Given the description of an element on the screen output the (x, y) to click on. 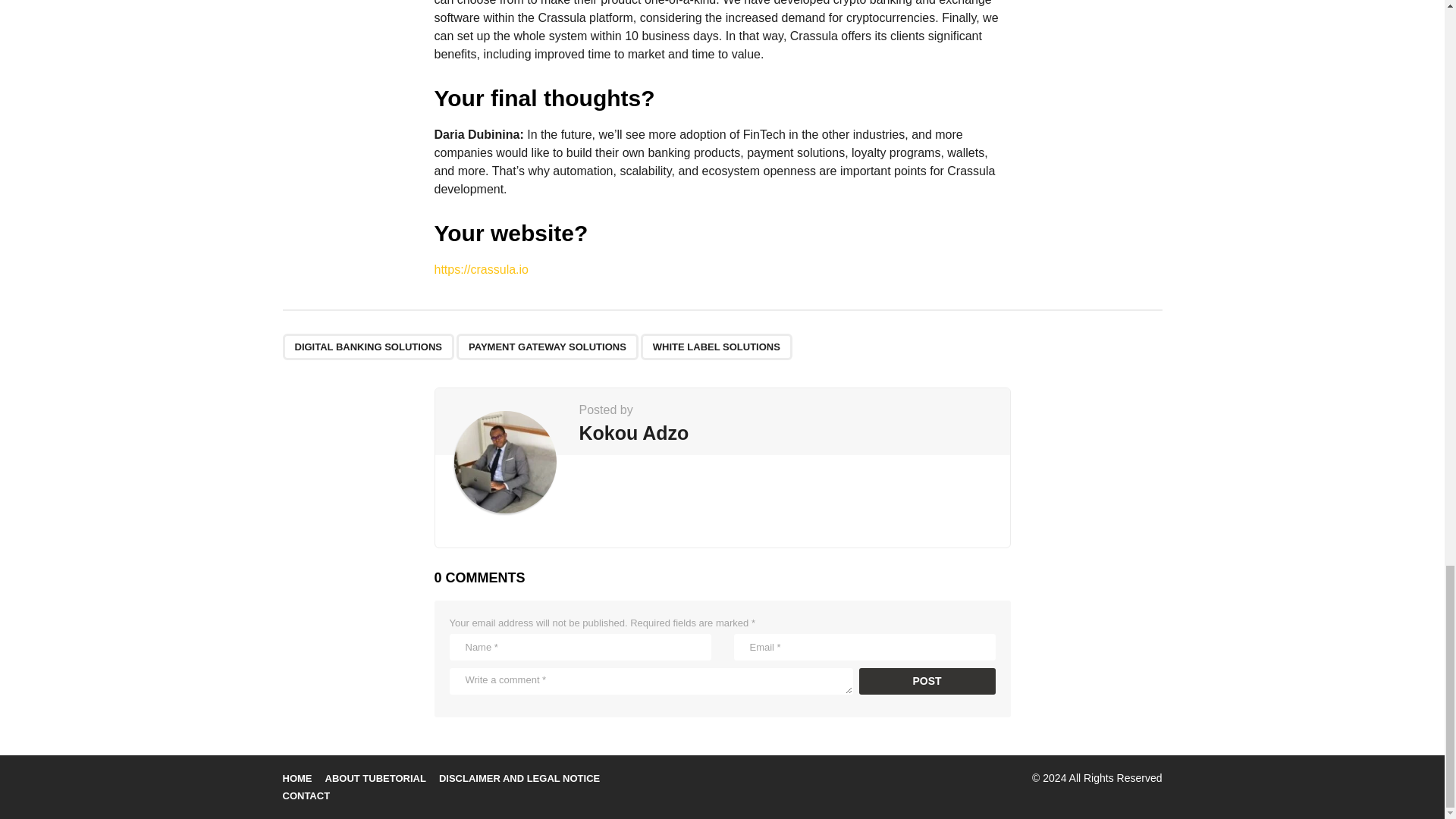
Post (926, 681)
HOME (296, 778)
Kokou Adzo (633, 432)
ABOUT TUBETORIAL (374, 778)
WHITE LABEL SOLUTIONS (716, 346)
PAYMENT GATEWAY SOLUTIONS (548, 346)
DISCLAIMER AND LEGAL NOTICE (519, 778)
Post (926, 681)
DIGITAL BANKING SOLUTIONS (368, 346)
